Given the description of an element on the screen output the (x, y) to click on. 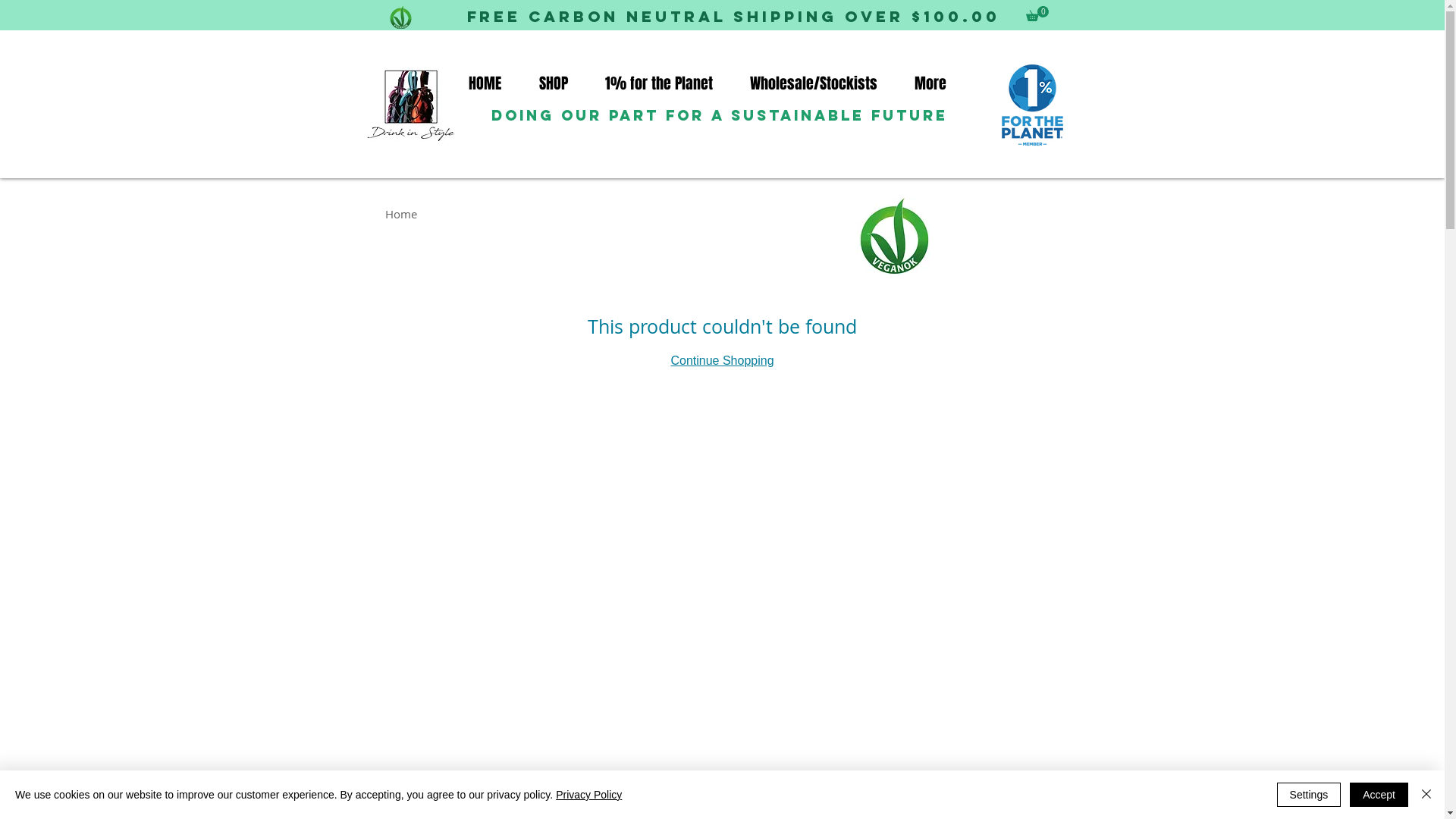
SHOP Element type: text (560, 83)
1% for the Planet Element type: text (665, 83)
Continue Shopping Element type: text (721, 360)
Accept Element type: text (1378, 794)
Home Element type: text (401, 213)
Settings Element type: text (1309, 794)
drink in style Element type: hover (411, 104)
0 Element type: text (1036, 13)
Wholesale/Stockists Element type: text (820, 83)
HOME Element type: text (491, 83)
Privacy Policy Element type: text (588, 794)
